Given the description of an element on the screen output the (x, y) to click on. 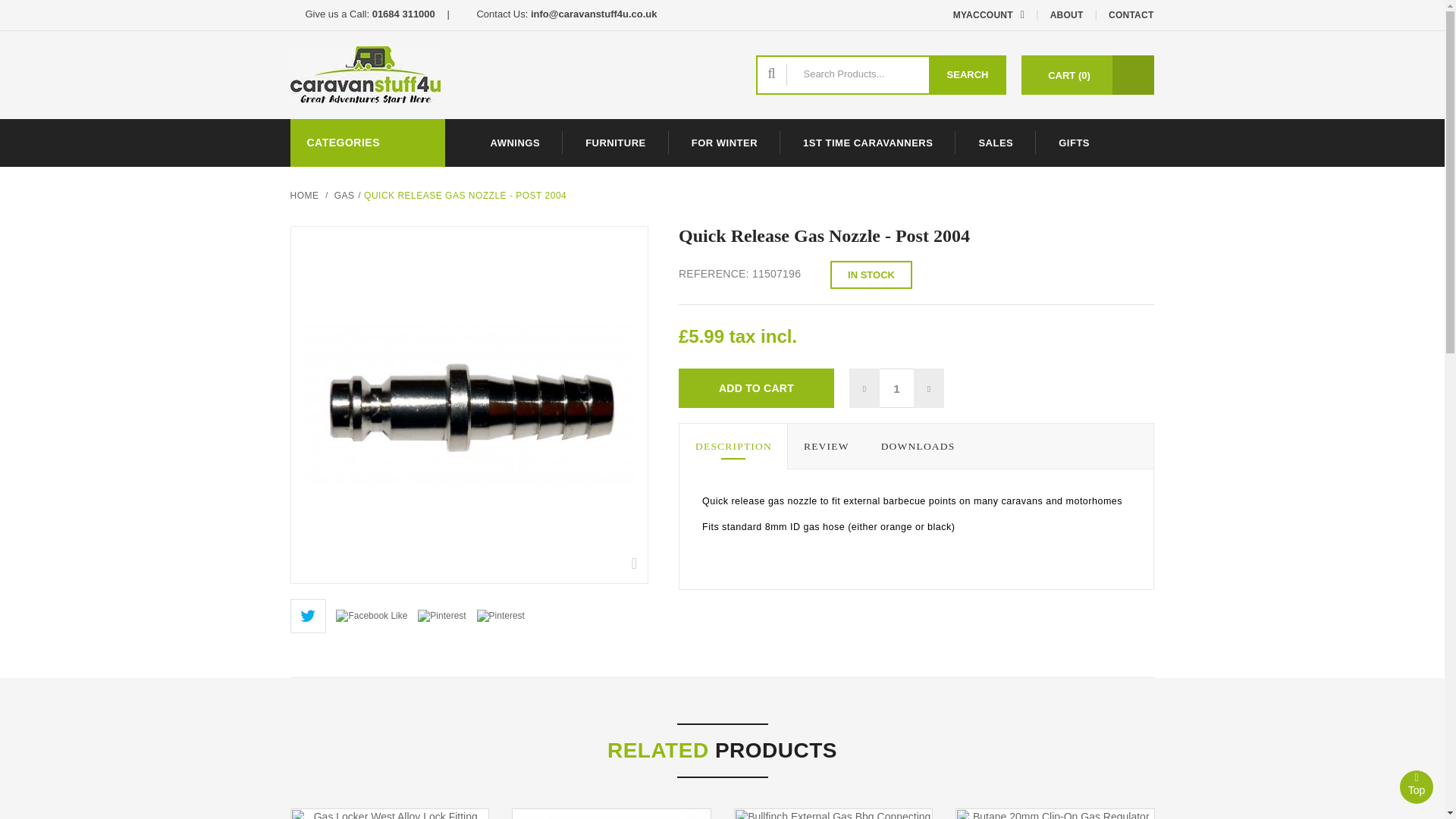
1ST TIME CARAVANNERS (867, 142)
ABOUT (1066, 14)
Gas (344, 195)
SEARCH (967, 75)
View my shopping cart (1069, 75)
GIFTS (1073, 142)
FURNITURE (615, 142)
HOME (303, 195)
FOR WINTER (724, 142)
MYACCOUNT (978, 14)
AWNINGS (514, 142)
SALES (995, 142)
GAS (344, 195)
CONTACT (1131, 14)
